Given the description of an element on the screen output the (x, y) to click on. 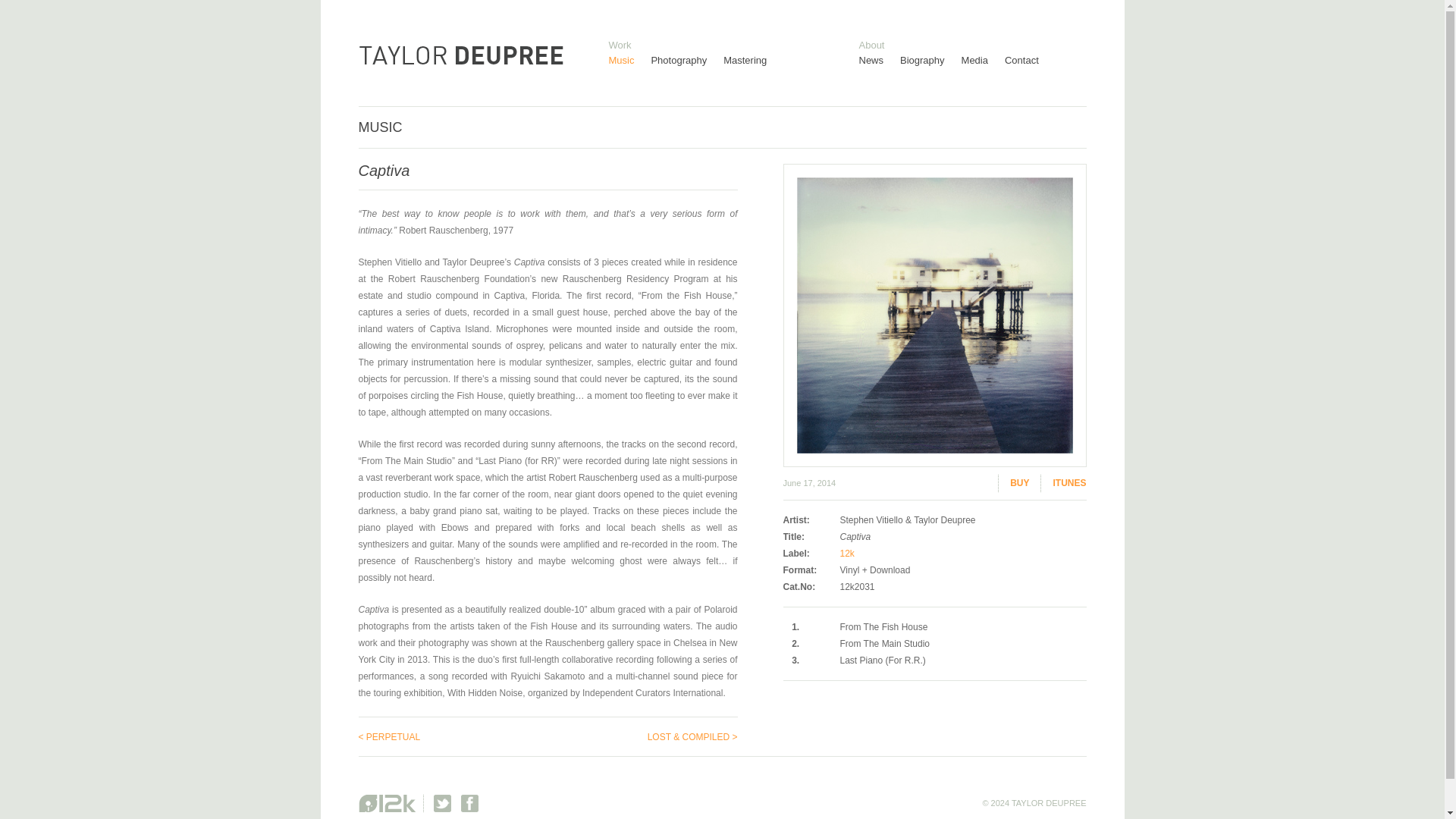
ITUNES (1063, 483)
News (879, 60)
Photography (686, 60)
Media (982, 60)
Mastering (753, 60)
Biography (929, 60)
TAYLOR DEUPREE (460, 59)
BUY (1013, 483)
Contact (1029, 60)
Music (629, 60)
12k (847, 552)
